Given the description of an element on the screen output the (x, y) to click on. 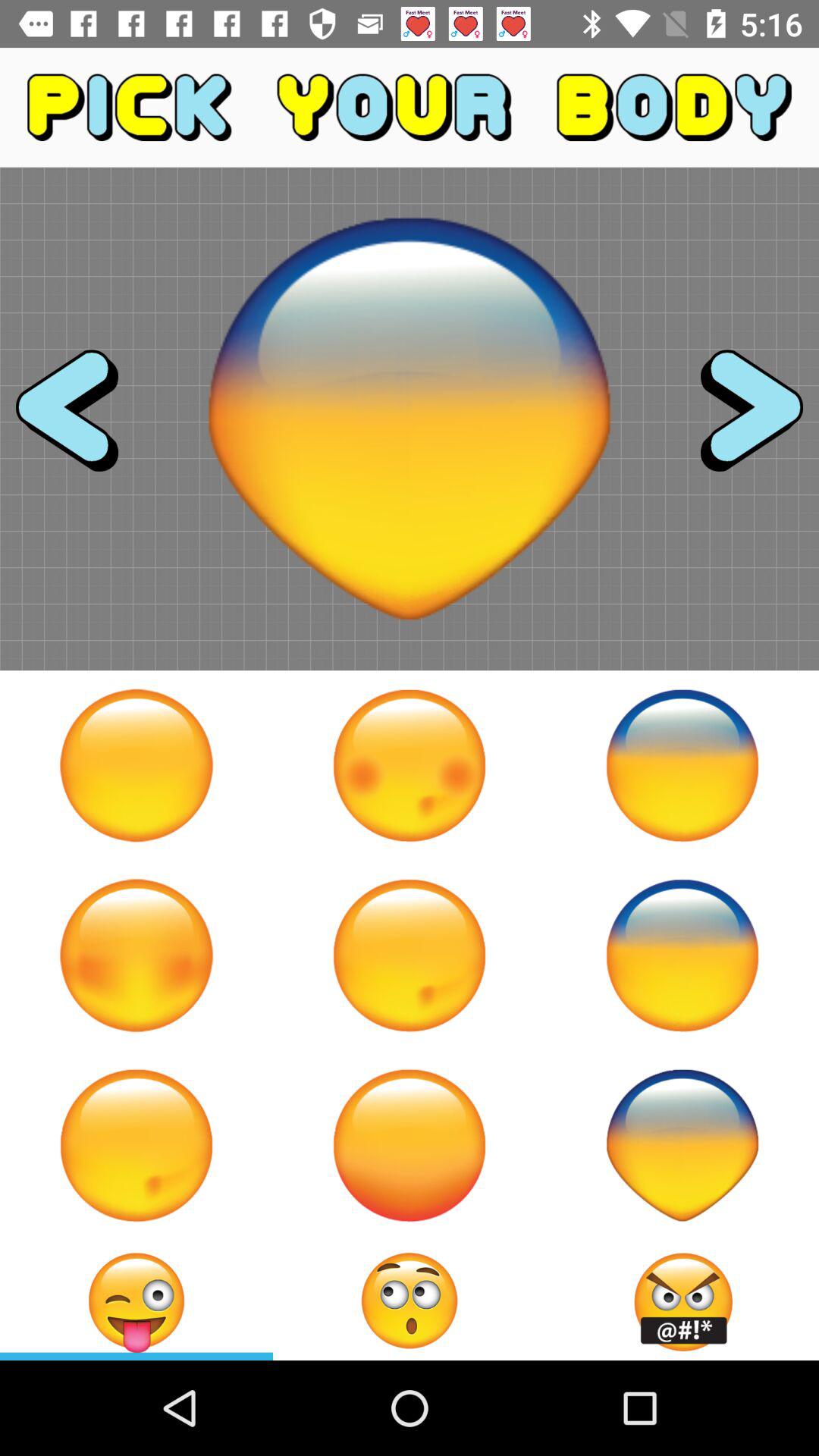
face with round blush (409, 765)
